Given the description of an element on the screen output the (x, y) to click on. 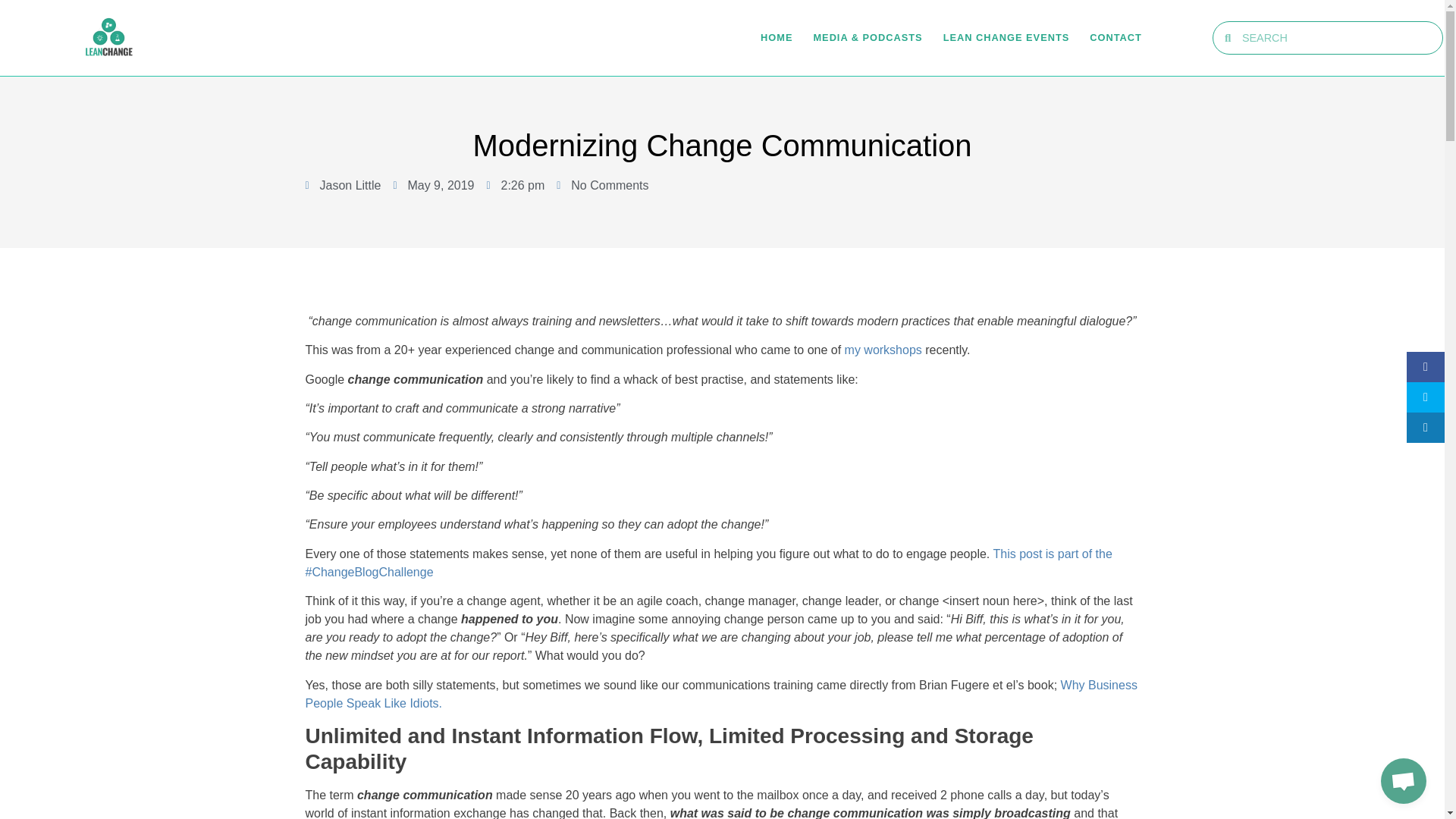
No Comments (601, 185)
CONTACT (1115, 37)
May 9, 2019 (433, 185)
my workshops (882, 349)
Search (1336, 38)
Jason Little (342, 185)
HOME (776, 37)
LEAN CHANGE EVENTS (1006, 37)
Why Business People Speak Like Idiots. (720, 694)
